Given the description of an element on the screen output the (x, y) to click on. 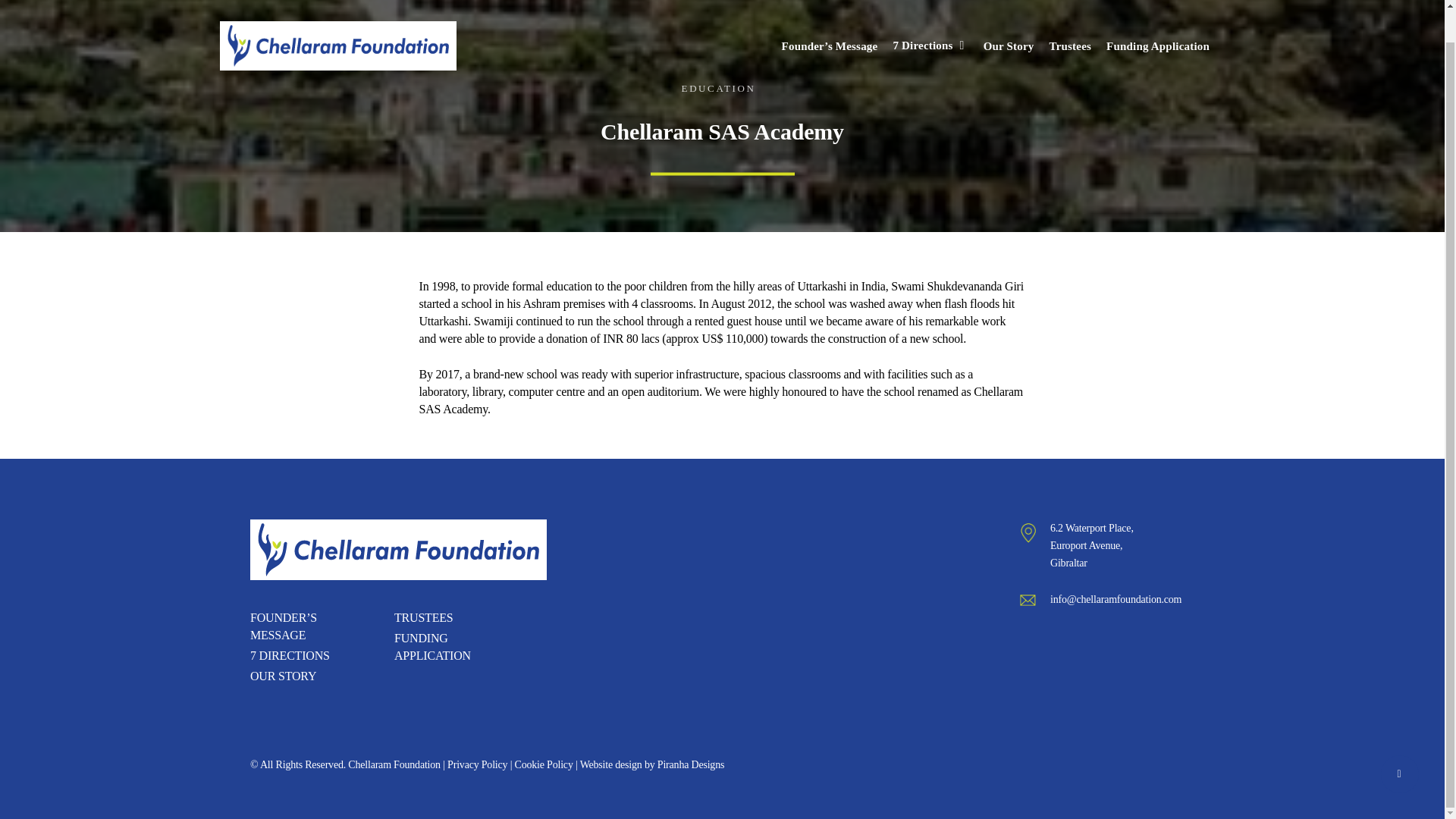
Cookie Policy (544, 764)
EDUCATION (718, 87)
Email Us (1114, 599)
Our Story (1008, 12)
Trustees (1070, 12)
7 DIRECTIONS (291, 655)
Funding Application (1158, 12)
FUNDING APPLICATION (435, 646)
Privacy Policy (476, 764)
Website design by Piranha Designs (652, 764)
